Given the description of an element on the screen output the (x, y) to click on. 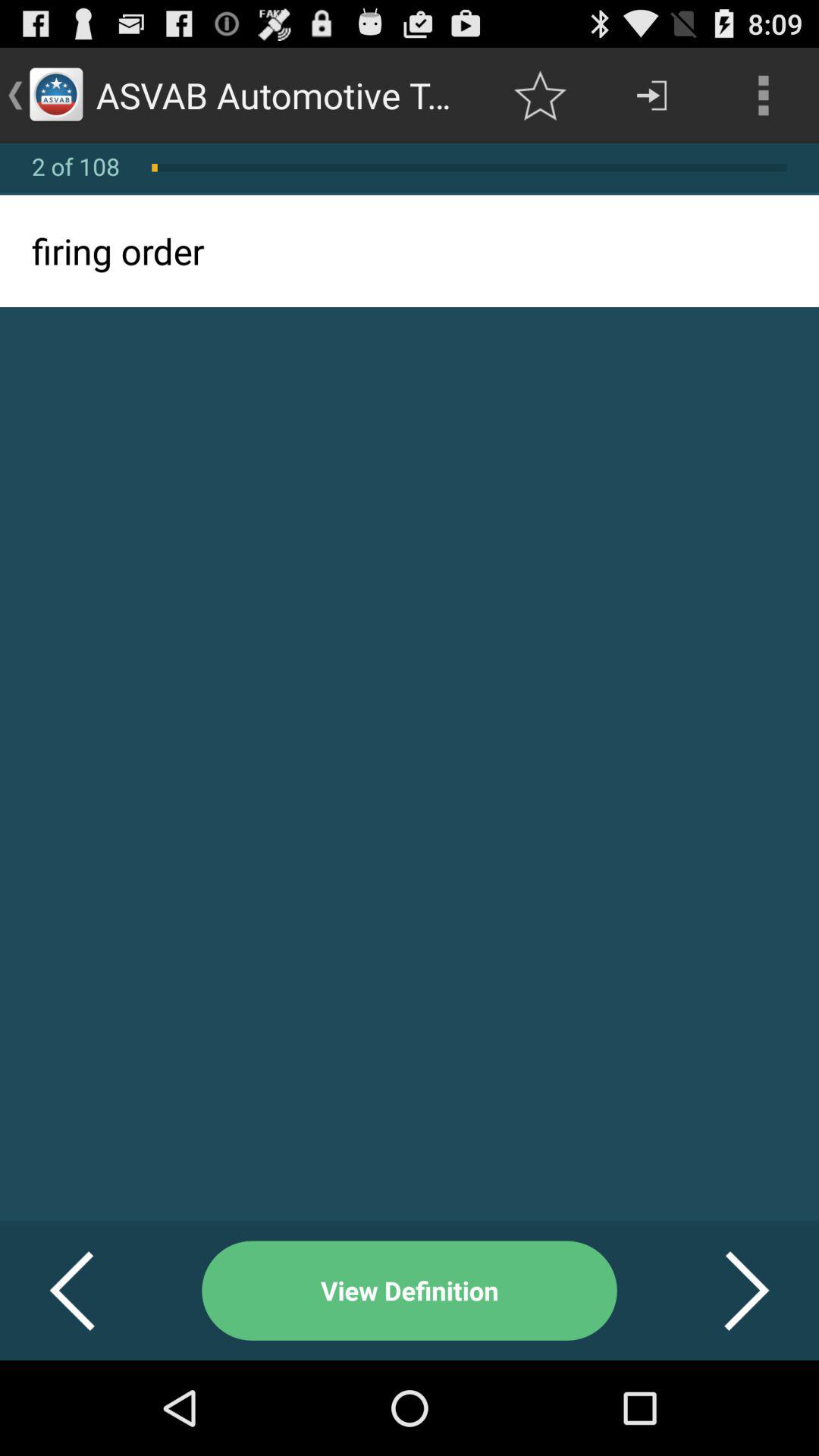
select item next to asvab automotive terminologies app (540, 95)
